Given the description of an element on the screen output the (x, y) to click on. 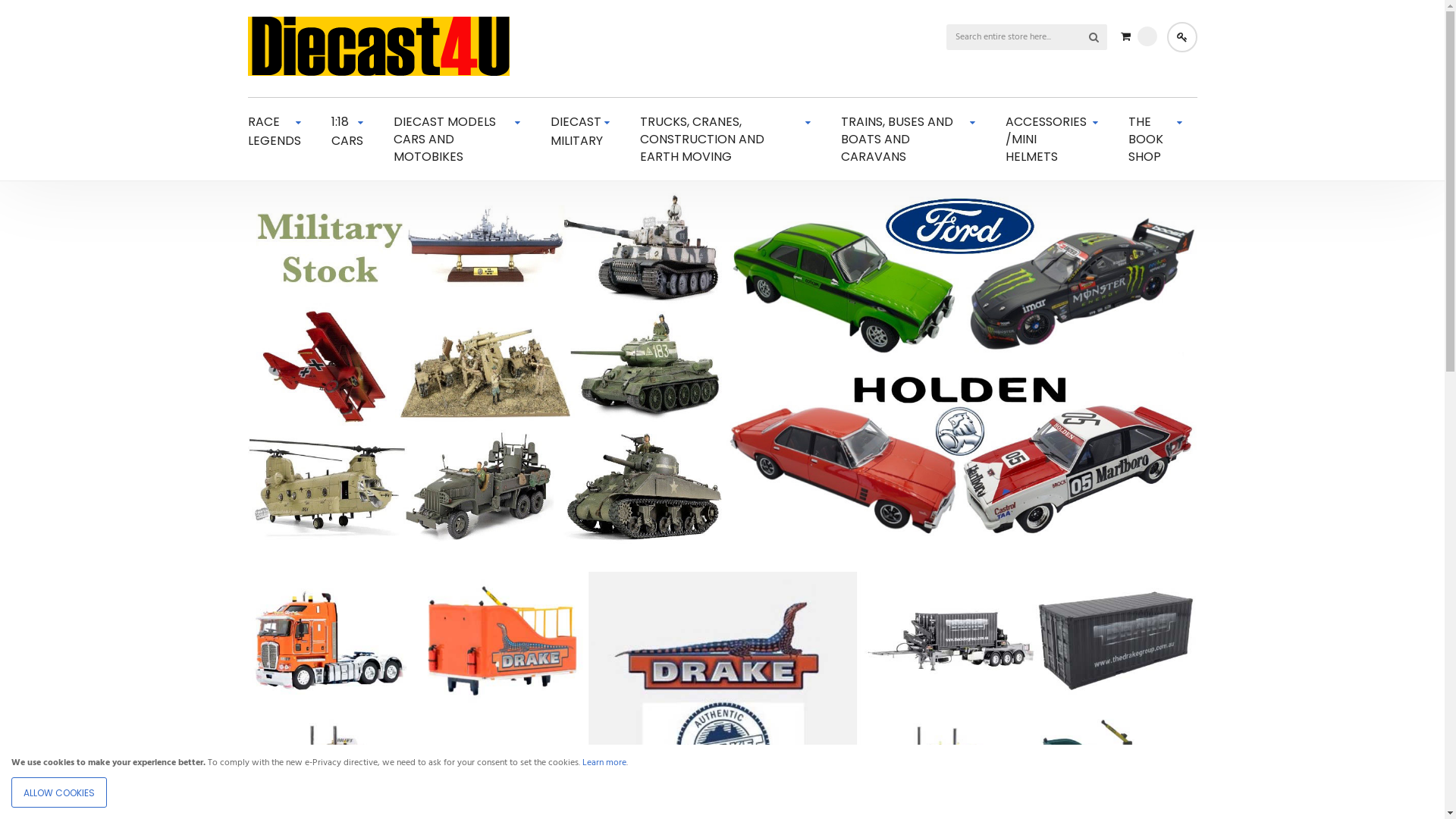
ACCESSORIES /MINI HELMETS Element type: text (1051, 138)
TRAINS, BUSES AND BOATS AND CARAVANS Element type: text (907, 138)
1:18 CARS Element type: text (346, 130)
DIECAST MODELS CARS AND MOTOBIKES Element type: text (456, 138)
Diecast4U Element type: hover (377, 48)
RACE LEGENDS Element type: text (273, 130)
Sign In Element type: text (1181, 36)
TRUCKS, CRANES, CONSTRUCTION AND EARTH MOVING Element type: text (725, 138)
Learn more Element type: text (604, 762)
ALLOW COOKIES Element type: text (58, 792)
DIECAST MILITARY Element type: text (579, 130)
THE BOOK SHOP Element type: text (1155, 138)
Diecast4U Element type: hover (377, 45)
Search Element type: hover (1094, 37)
